Given the description of an element on the screen output the (x, y) to click on. 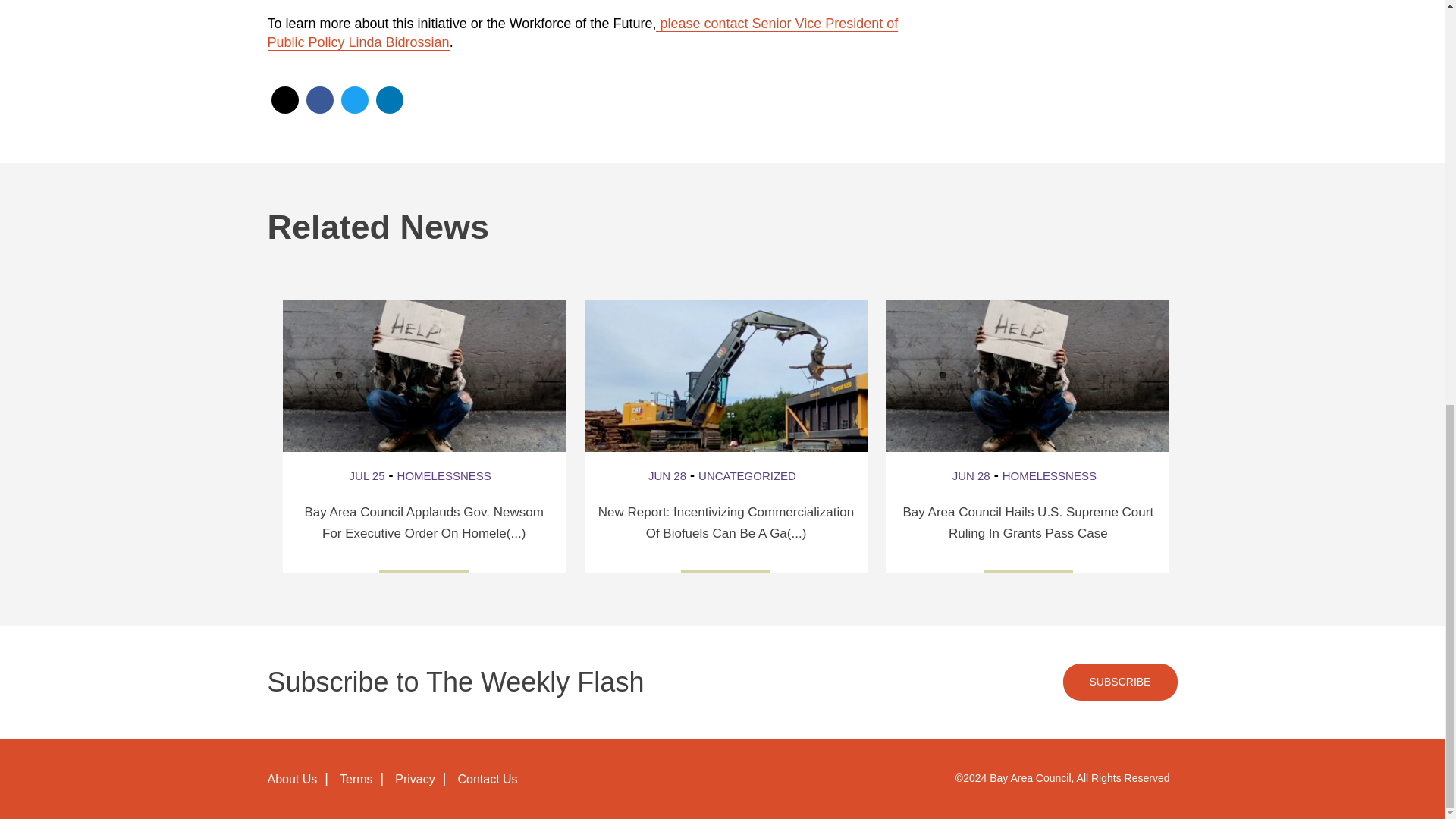
Share on LinkedIn (389, 99)
Share on Facebook (319, 99)
Email to a friend (284, 99)
Share on Twitter (354, 99)
